Given the description of an element on the screen output the (x, y) to click on. 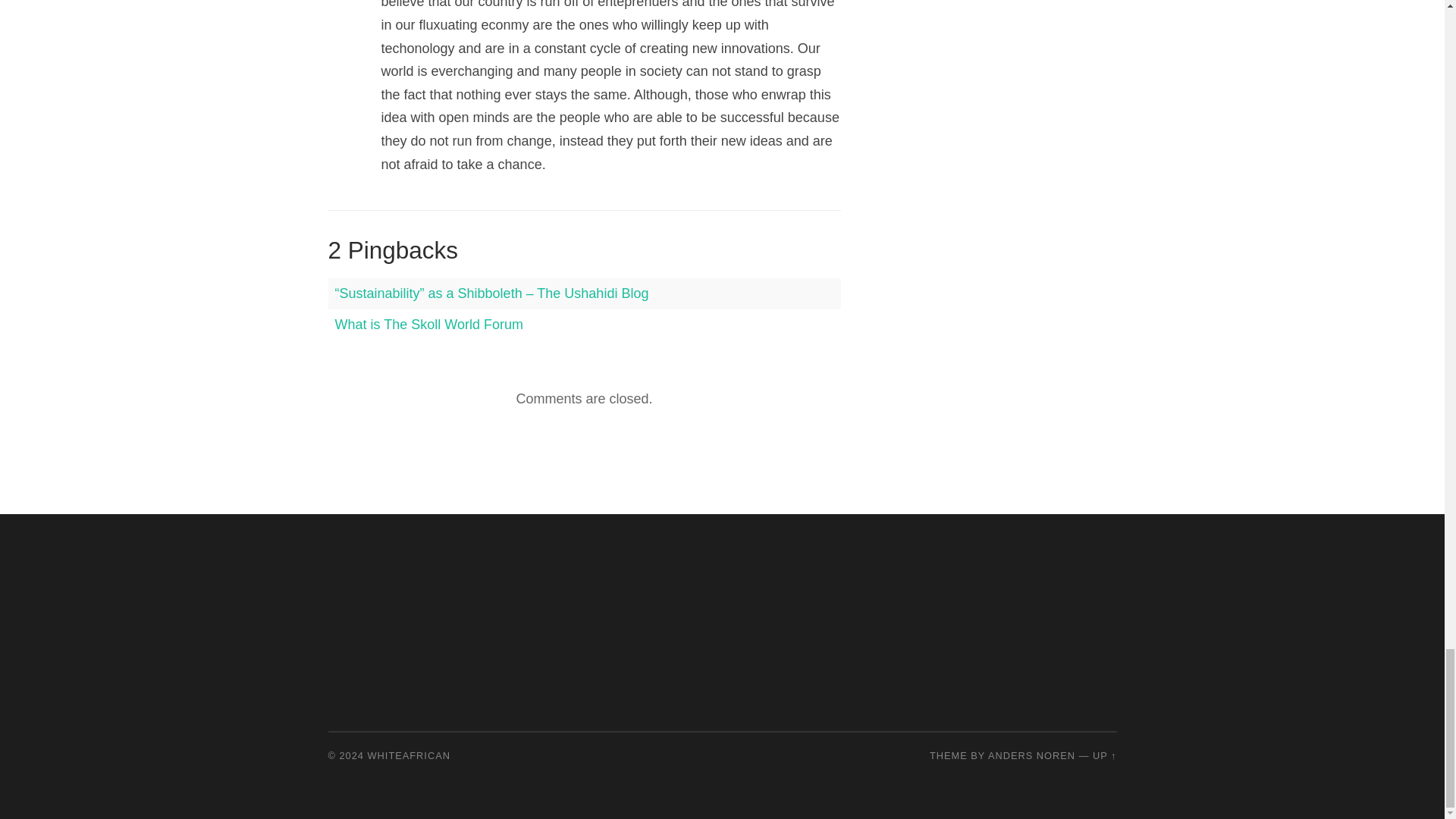
WhiteAfrican (408, 755)
ANDERS NOREN (1031, 755)
WHITEAFRICAN (408, 755)
What is The Skoll World Forum (428, 324)
To the top (1104, 755)
